Given the description of an element on the screen output the (x, y) to click on. 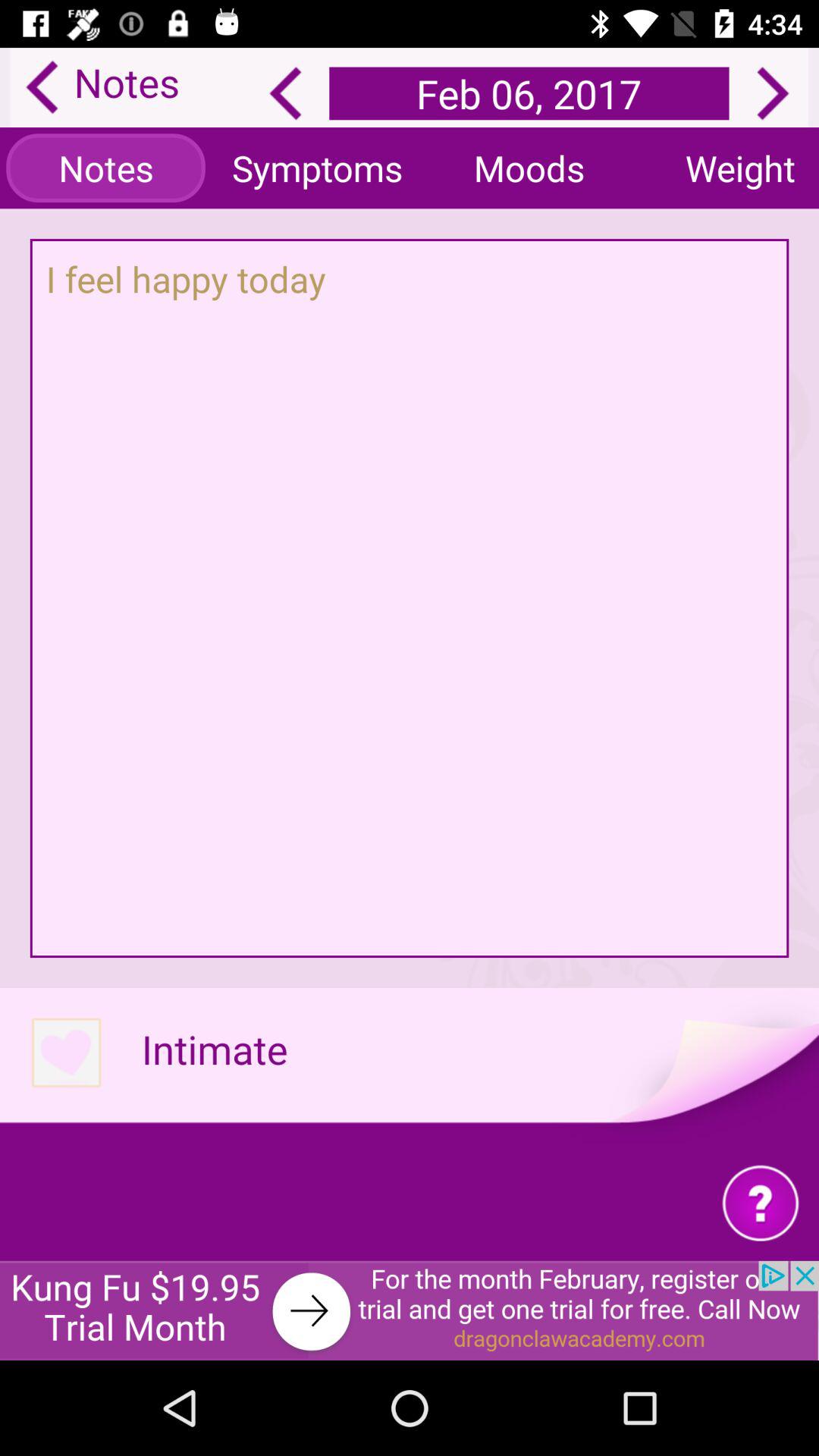
question tag page (760, 1202)
